Given the description of an element on the screen output the (x, y) to click on. 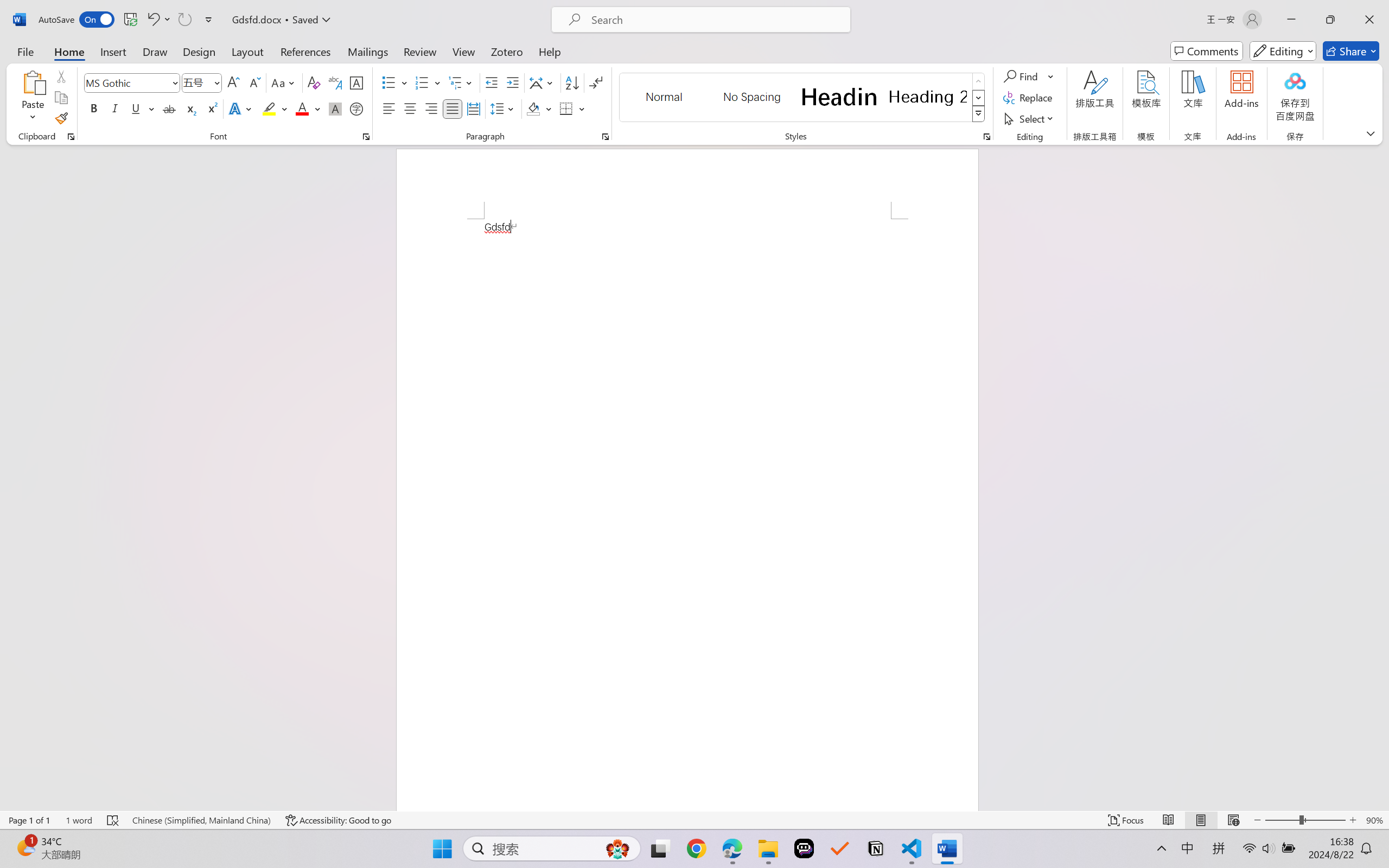
Font Color Red (302, 108)
Page 1 content (687, 514)
Multilevel List (461, 82)
Undo Font Formatting (152, 19)
